Given the description of an element on the screen output the (x, y) to click on. 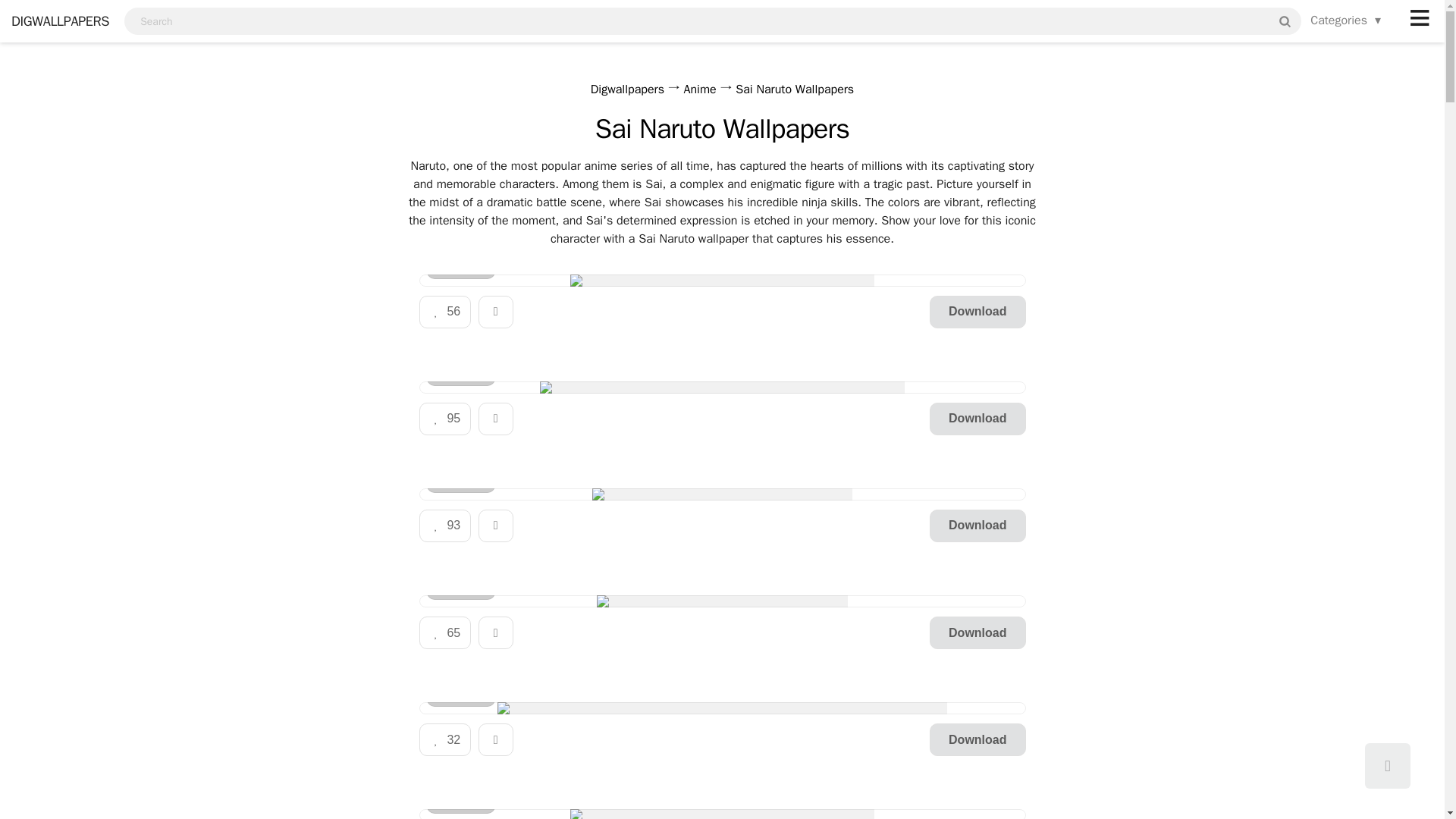
DIGWALLPAPERS (54, 20)
